Given the description of an element on the screen output the (x, y) to click on. 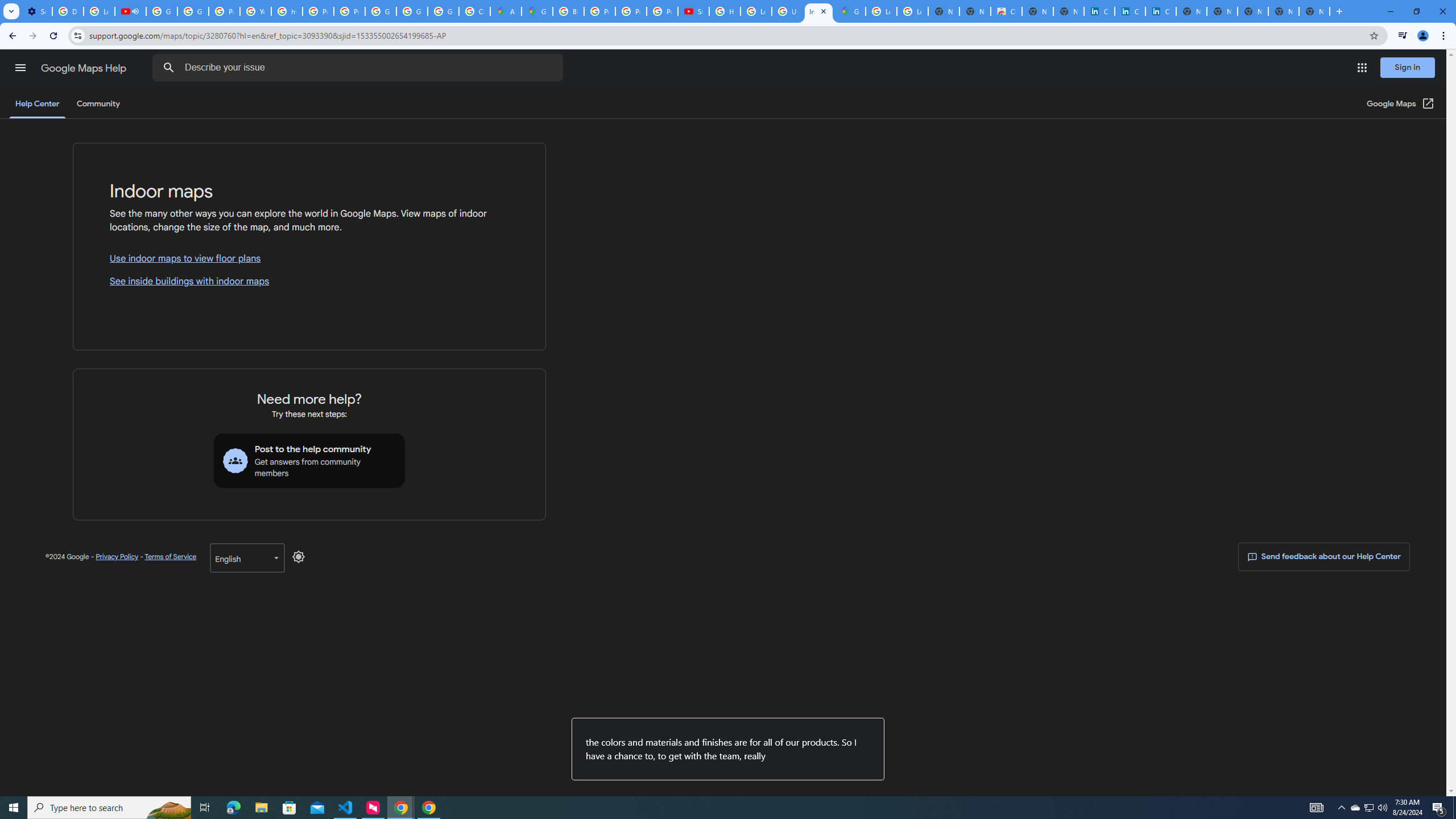
https://scholar.google.com/ (286, 11)
Privacy Help Center - Policies Help (318, 11)
Settings - Customize profile (36, 11)
Learn how to find your photos - Google Photos Help (98, 11)
Google Account Help (192, 11)
Google Maps (849, 11)
Main menu (20, 67)
Copyright Policy (1160, 11)
